Given the description of an element on the screen output the (x, y) to click on. 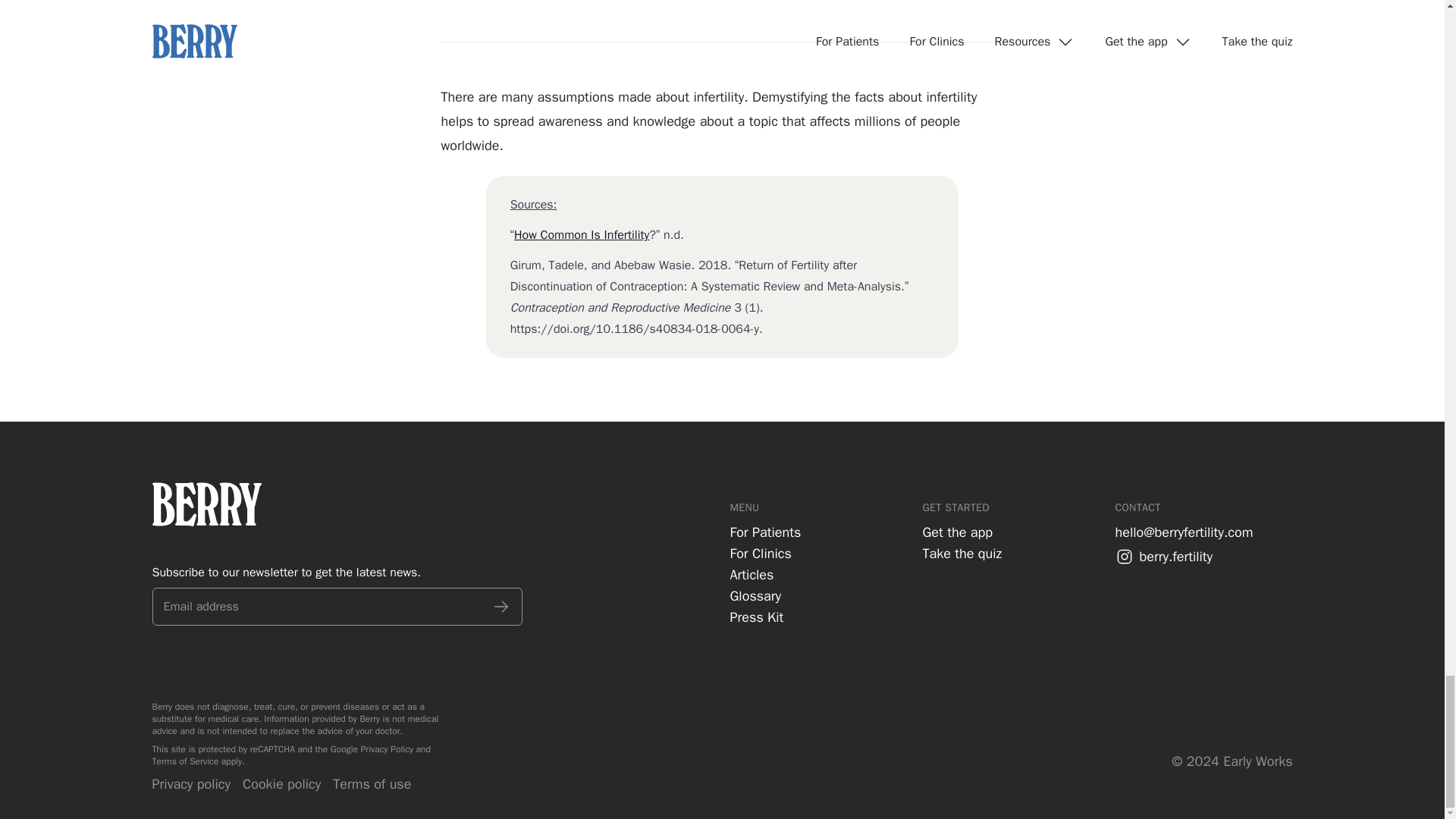
Press Kit (756, 617)
Articles (751, 574)
For Patients (764, 532)
Take the quiz (961, 553)
Submit Button (500, 606)
For Clinics (759, 553)
Glossary (754, 596)
Get the app (956, 532)
How Common Is Infertility (581, 234)
